Given the description of an element on the screen output the (x, y) to click on. 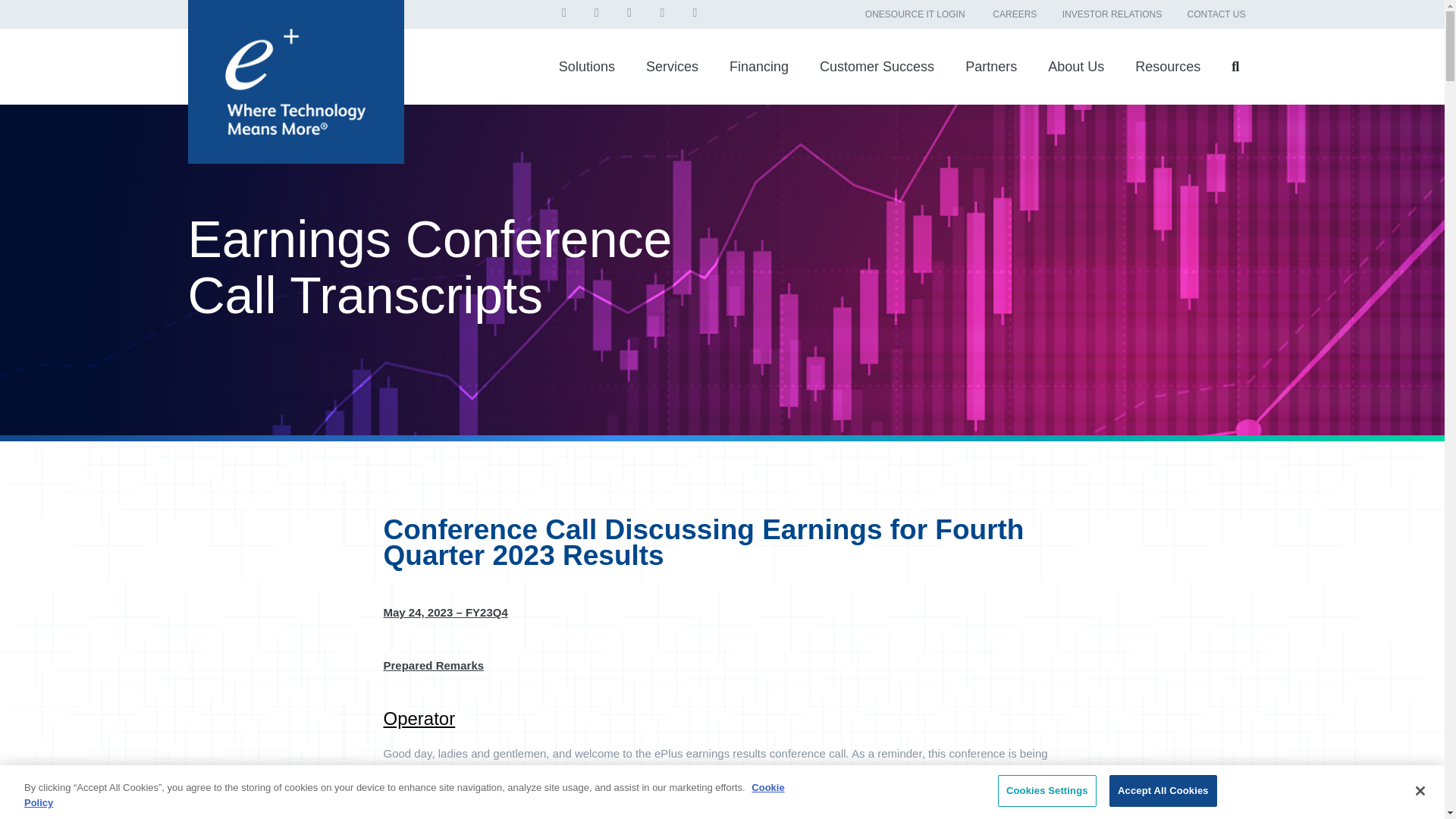
INVESTOR RELATIONS (1112, 14)
ONESOURCE IT LOGIN (914, 14)
Solutions (586, 66)
CAREERS (1014, 14)
CONTACT US (1216, 14)
